Given the description of an element on the screen output the (x, y) to click on. 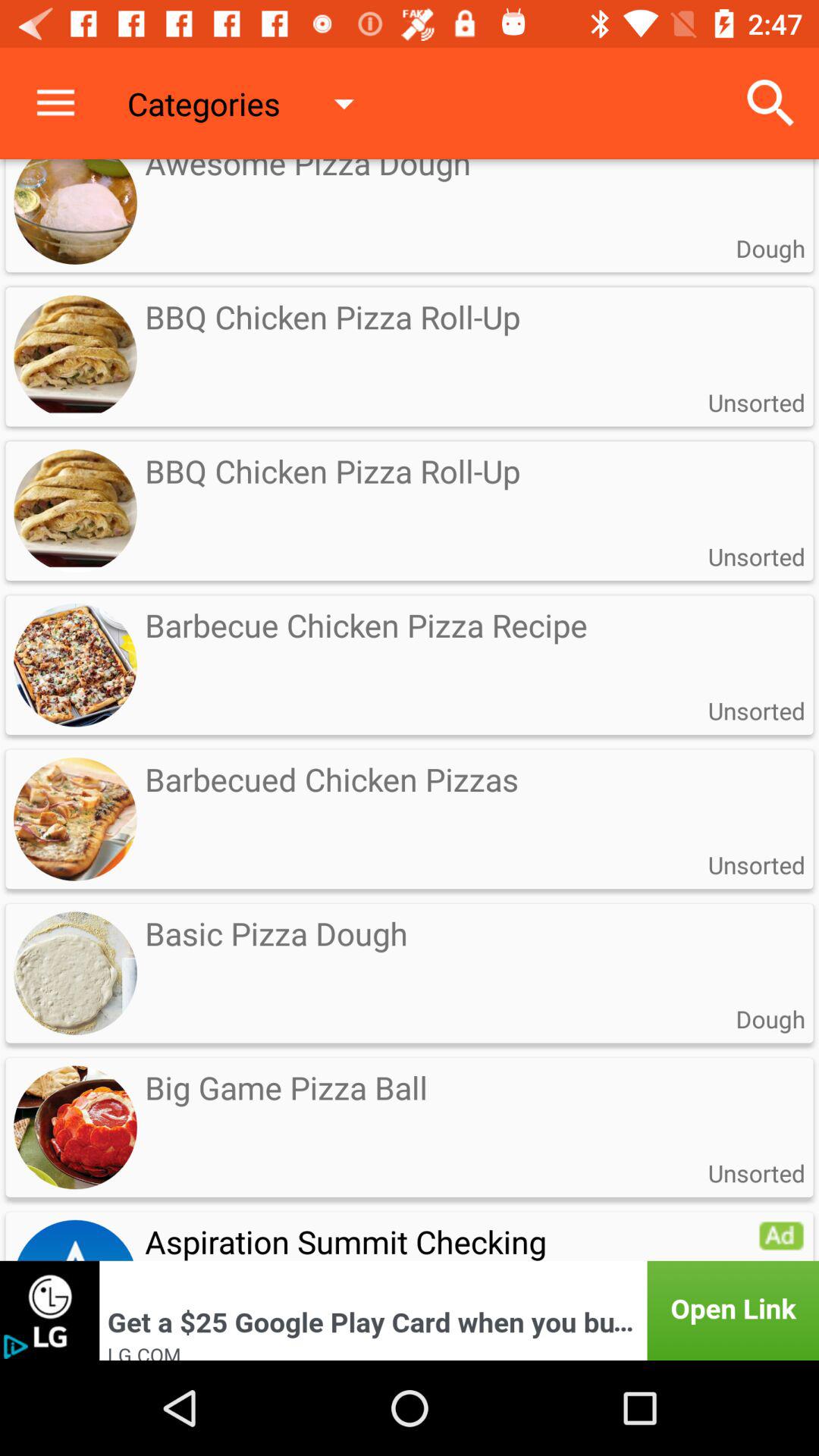
select basic pizza dough (409, 953)
click on aspiration summit checking (409, 1234)
